Given the description of an element on the screen output the (x, y) to click on. 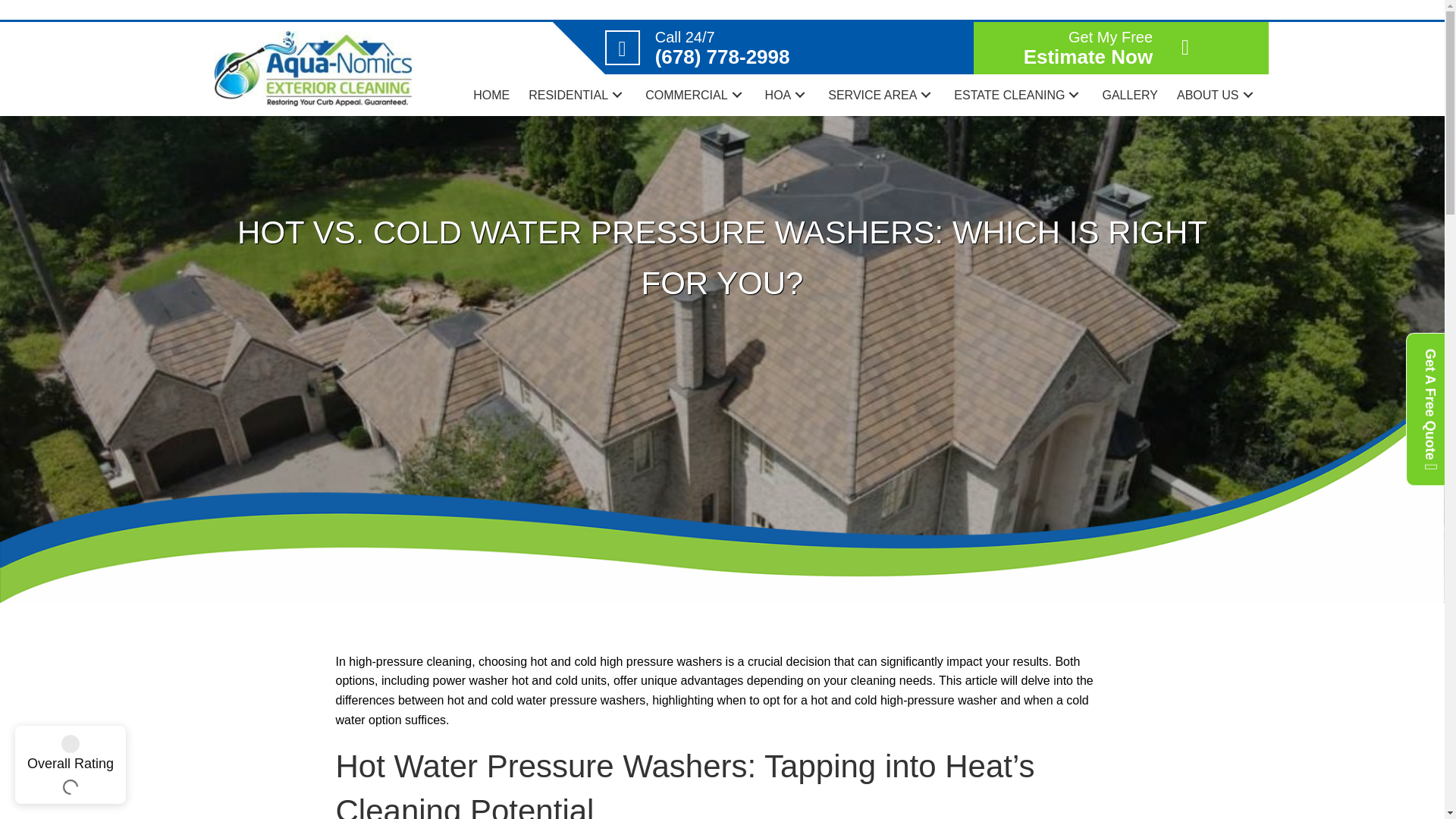
HOME (490, 95)
RESIDENTIAL (577, 95)
COMMERCIAL (694, 95)
SERVICE AREA (881, 95)
HOA (786, 95)
